Given the description of an element on the screen output the (x, y) to click on. 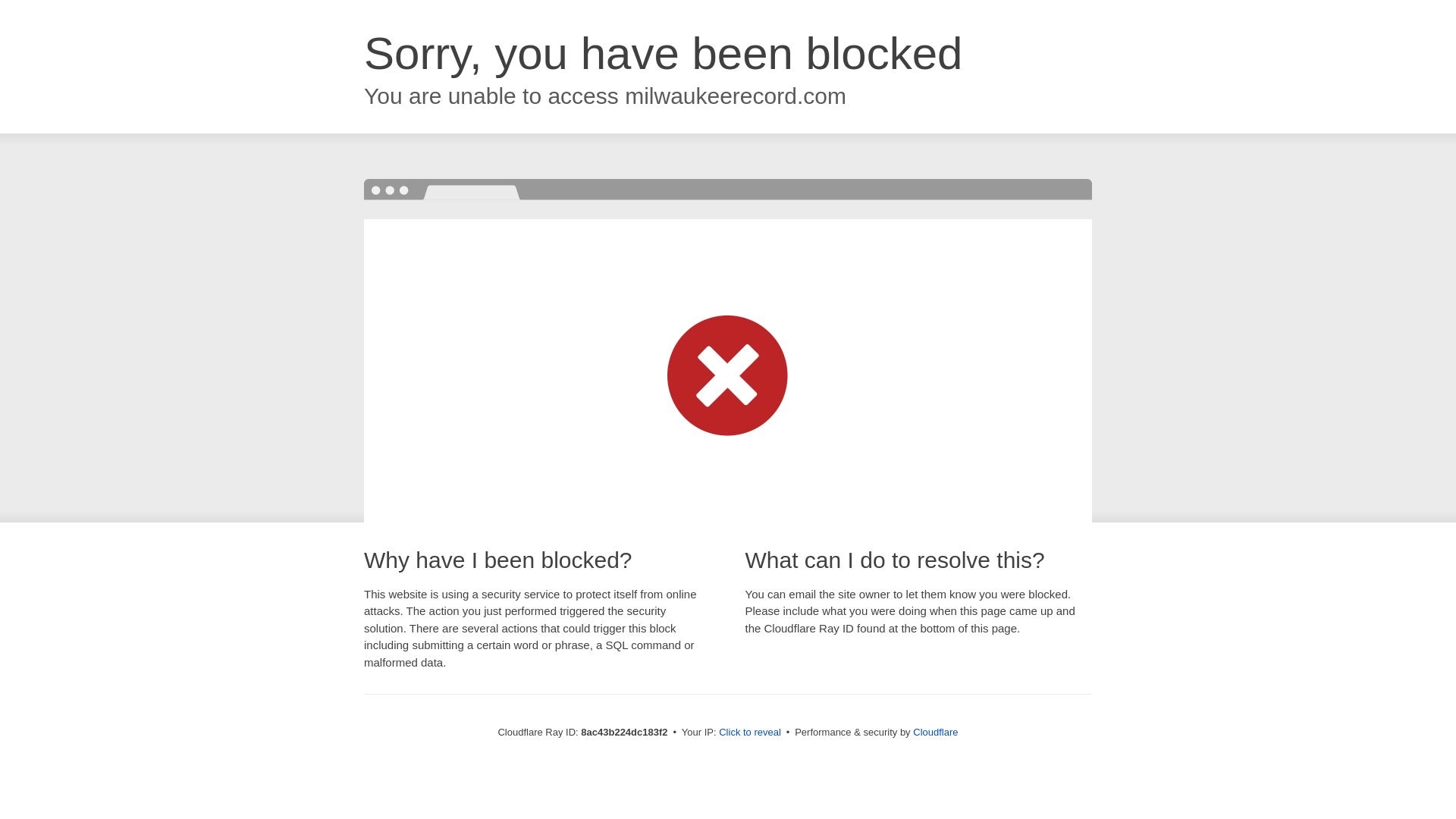
Cloudflare (935, 731)
Click to reveal (749, 732)
